Given the description of an element on the screen output the (x, y) to click on. 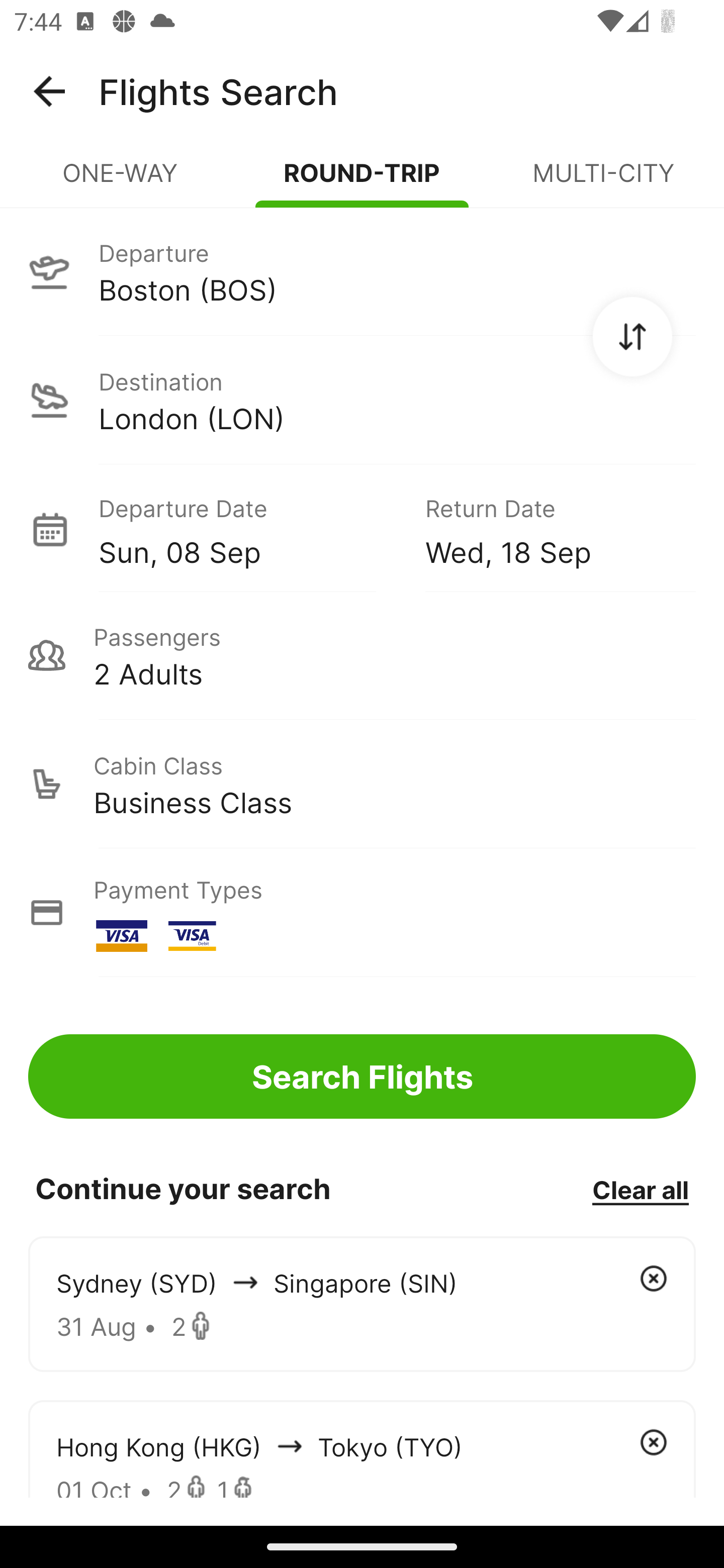
ONE-WAY (120, 180)
ROUND-TRIP (361, 180)
MULTI-CITY (603, 180)
Departure Boston (BOS) (362, 270)
Destination London (LON) (362, 400)
Departure Date Sun, 08 Sep (247, 528)
Return Date Wed, 18 Sep (546, 528)
Passengers 2 Adults (362, 655)
Cabin Class Business Class (362, 783)
Payment Types (362, 912)
Search Flights (361, 1075)
Clear all (640, 1189)
